Given the description of an element on the screen output the (x, y) to click on. 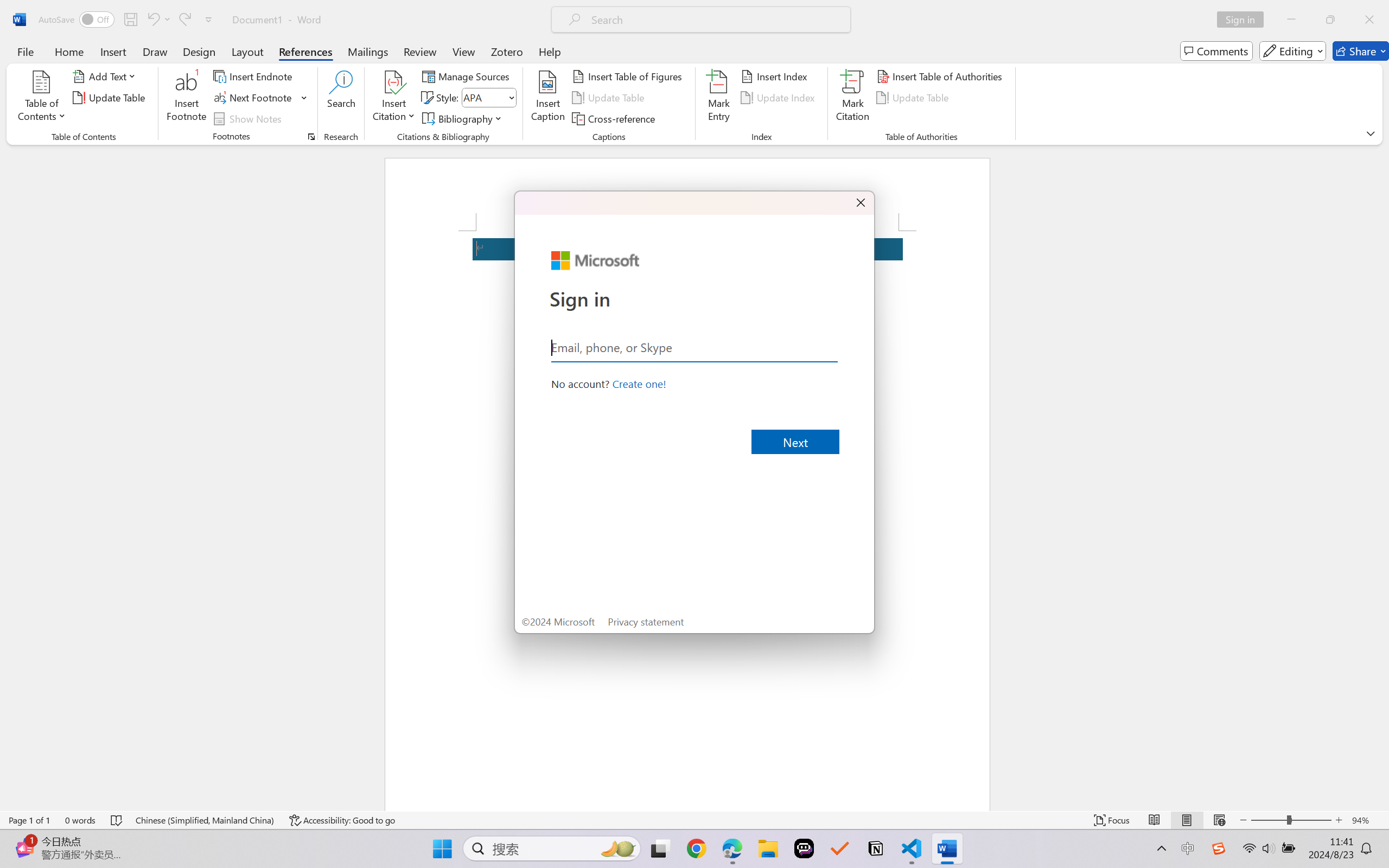
Footnote and Endnote Dialog... (311, 136)
Language Chinese (Simplified, Mainland China) (205, 819)
Mark Citation... (852, 97)
Undo Apply Quick Style Set (158, 19)
Add Text (106, 75)
